Given the description of an element on the screen output the (x, y) to click on. 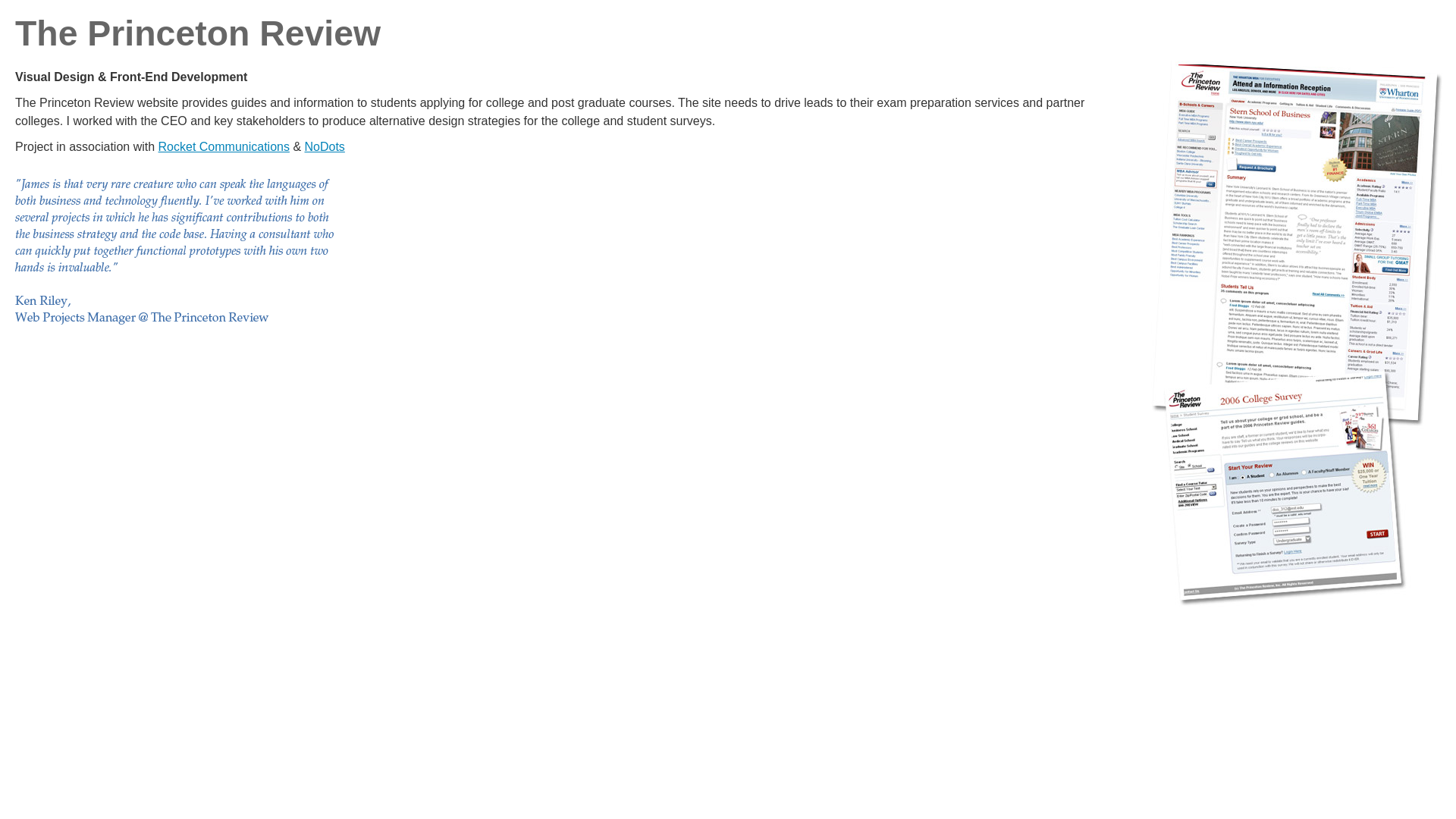
NoDots (324, 146)
Rocket Communications (223, 146)
